Given the description of an element on the screen output the (x, y) to click on. 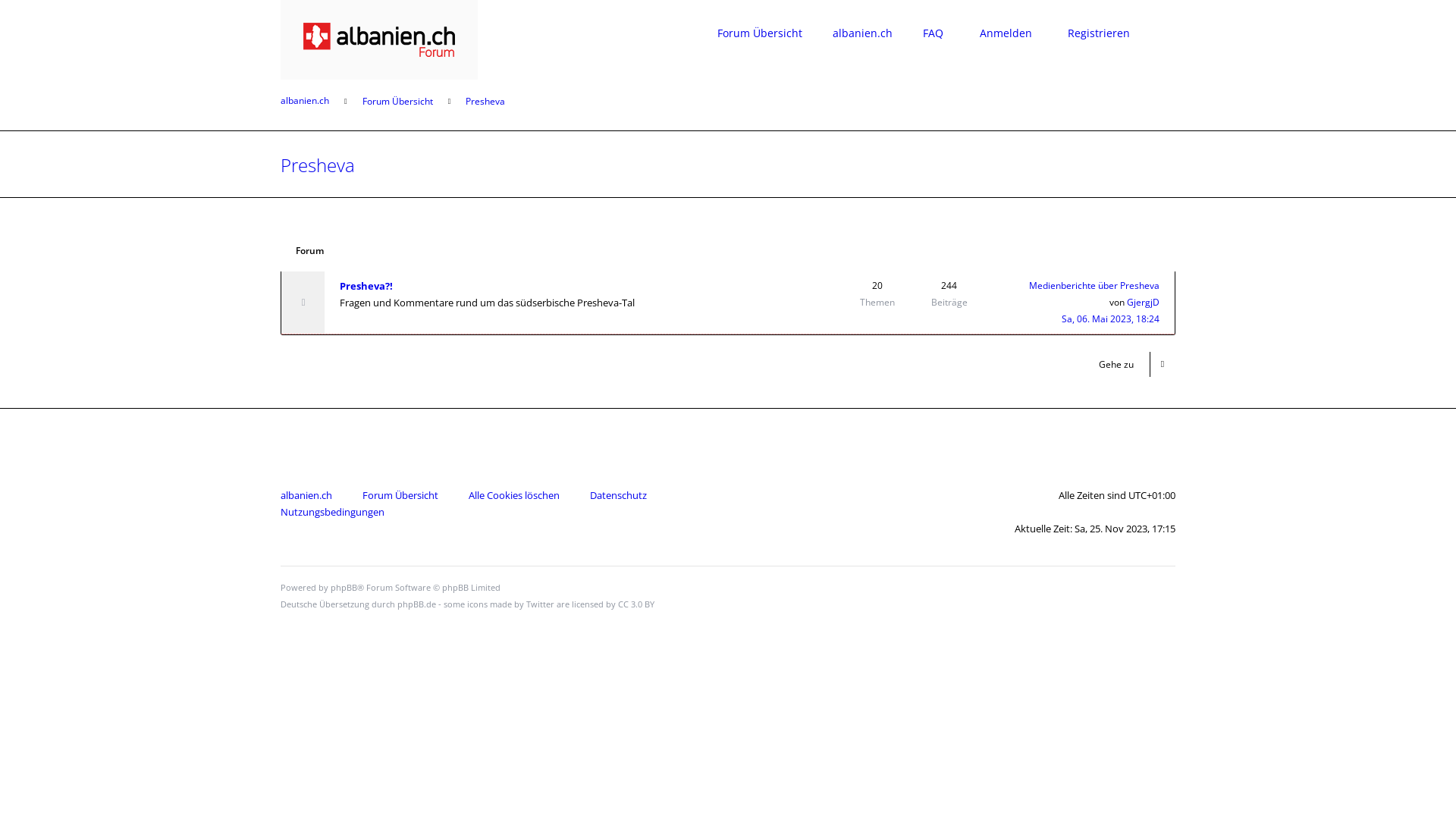
Presheva Element type: text (317, 164)
FAQ Element type: text (932, 33)
albanien.ch Element type: text (862, 33)
albanien.ch Element type: text (304, 100)
Presheva?! Element type: text (365, 285)
albanien.ch Element type: text (306, 495)
Anmelden Element type: text (1002, 33)
phpBB.de Element type: text (416, 603)
Presheva Element type: text (485, 101)
Sa, 06. Mai 2023, 18:24 Element type: text (1110, 318)
Nutzungsbedingungen Element type: text (332, 511)
albanien.ch Element type: hover (378, 39)
GjergjD Element type: text (1142, 301)
Datenschutz Element type: text (617, 495)
Registrieren Element type: text (1095, 33)
phpBB Element type: text (343, 587)
CC 3.0 BY Element type: text (636, 603)
Twitter Element type: text (540, 603)
